Given the description of an element on the screen output the (x, y) to click on. 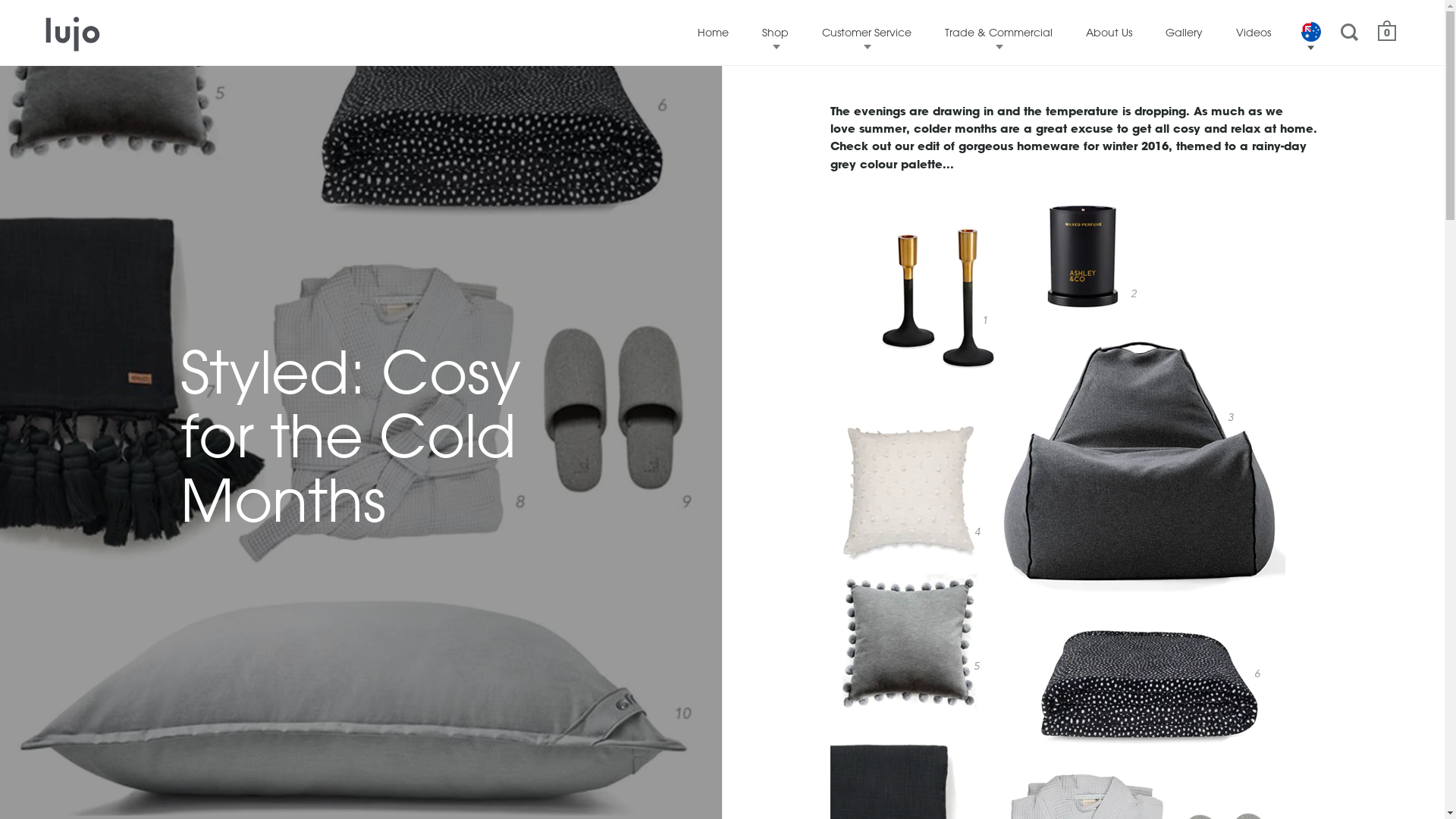
Home Element type: text (712, 32)
Customer Service Element type: text (866, 32)
Subscribe Element type: text (815, 550)
Open search Element type: hover (1350, 31)
Trade & Commercial Element type: text (998, 32)
Videos Element type: text (1253, 32)
0 Element type: text (1386, 32)
Shop Element type: text (774, 32)
Gallery Element type: text (1183, 32)
About Us Element type: text (1108, 32)
